Given the description of an element on the screen output the (x, y) to click on. 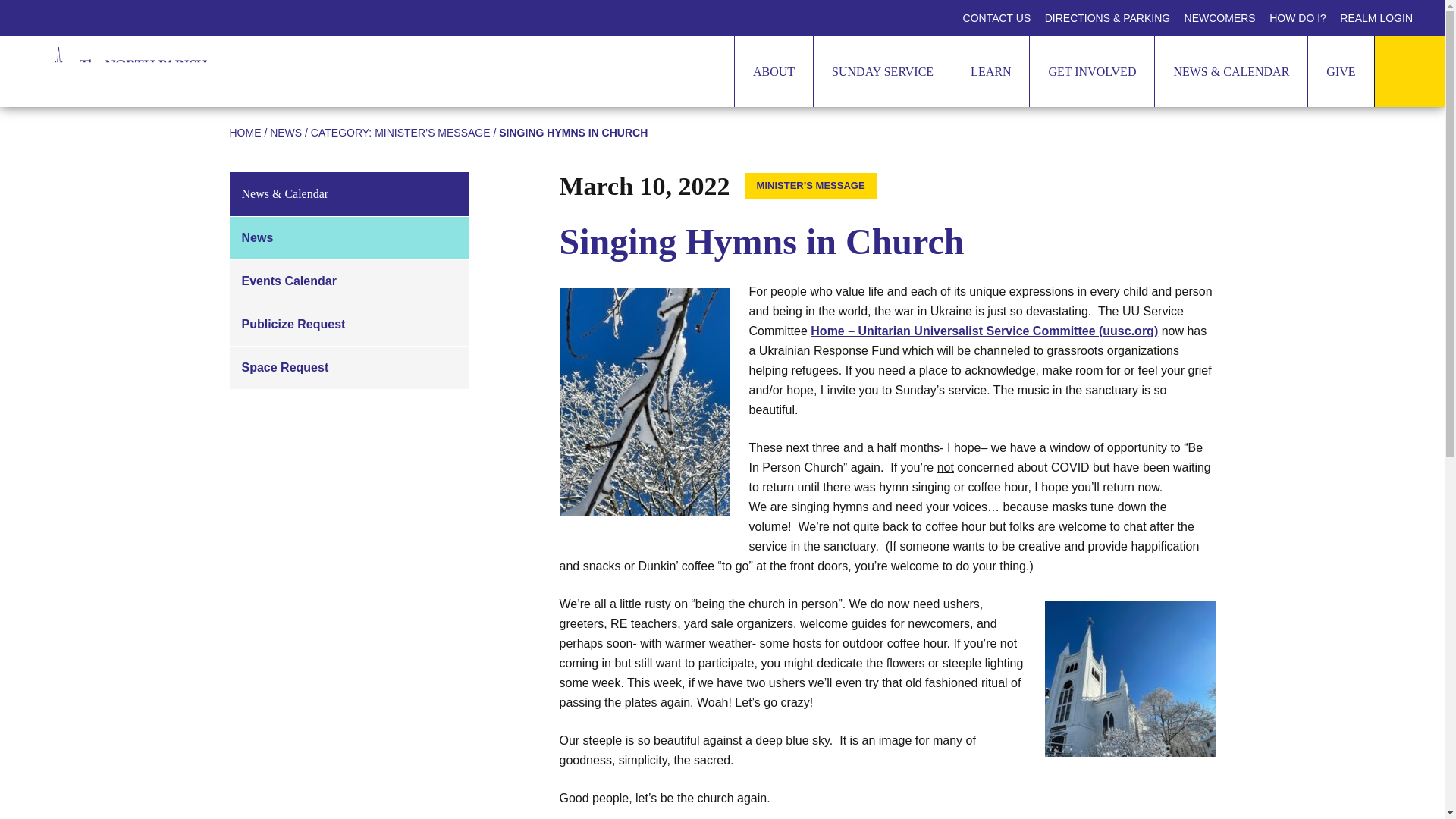
LEARN (990, 71)
ABOUT (772, 71)
CONTACT US (997, 18)
REALM LOGIN (1376, 18)
GET INVOLVED (1091, 71)
HOW DO I? (1297, 18)
NEWCOMERS (1219, 18)
SUNDAY SERVICE (882, 71)
